Given the description of an element on the screen output the (x, y) to click on. 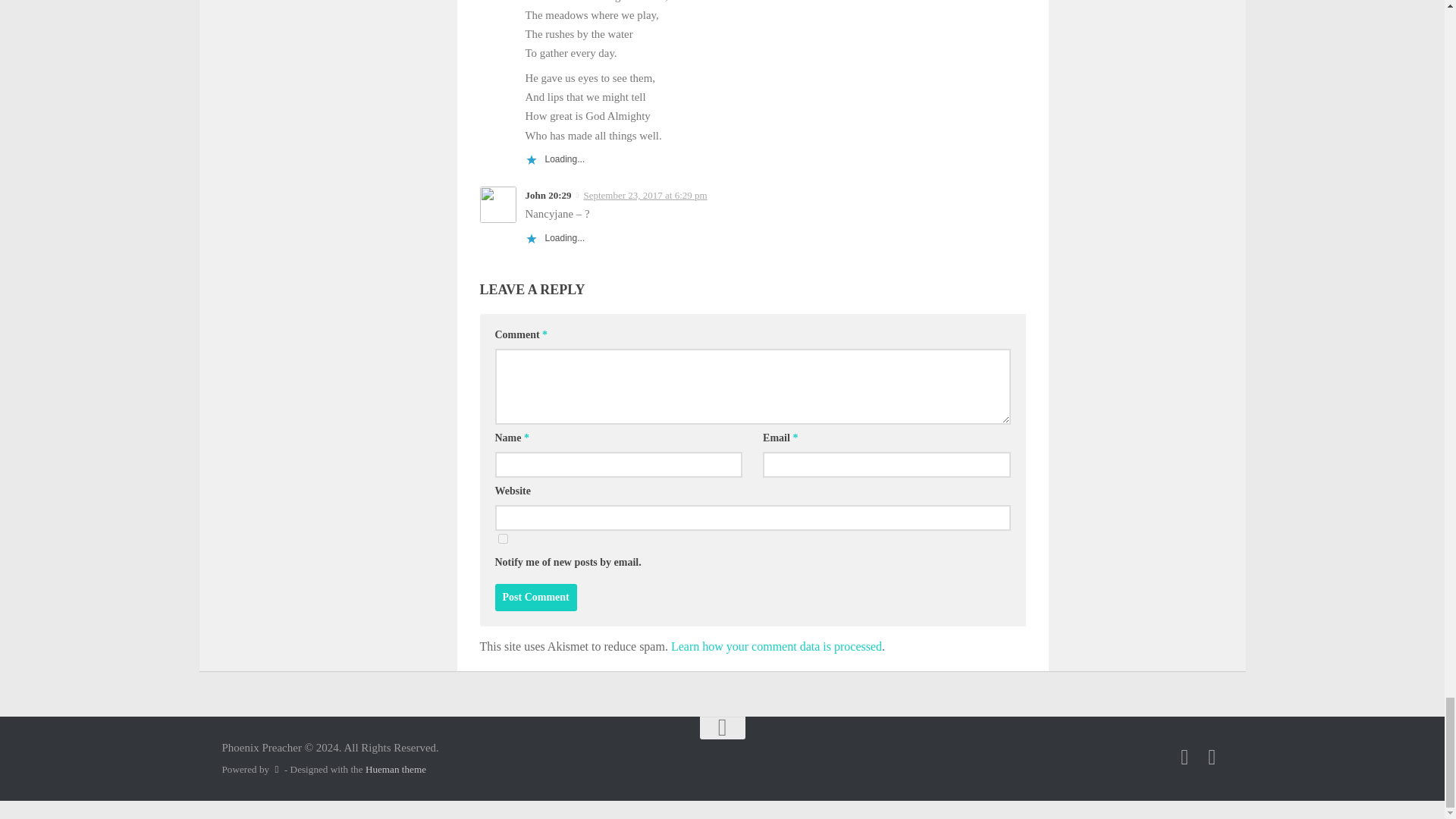
Powered by WordPress (275, 768)
Post Comment (535, 596)
subscribe (501, 538)
